Given the description of an element on the screen output the (x, y) to click on. 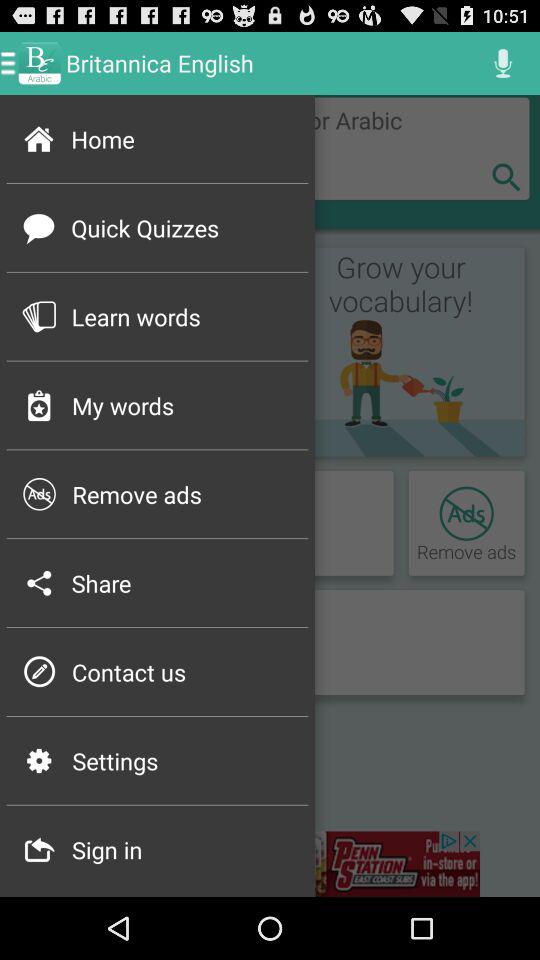
flip to the x (506, 176)
